Given the description of an element on the screen output the (x, y) to click on. 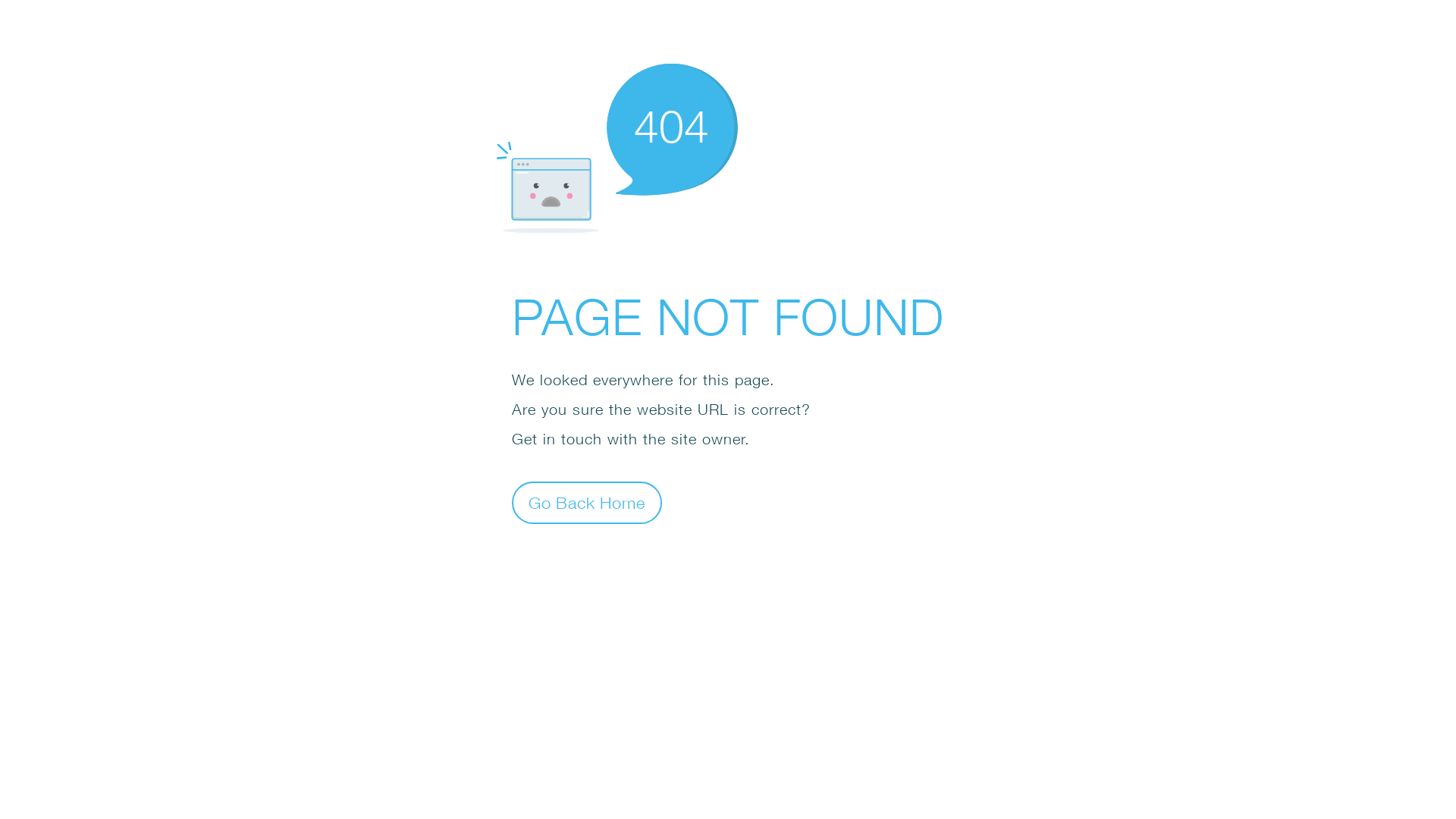
Go Back Home Element type: text (586, 502)
